Given the description of an element on the screen output the (x, y) to click on. 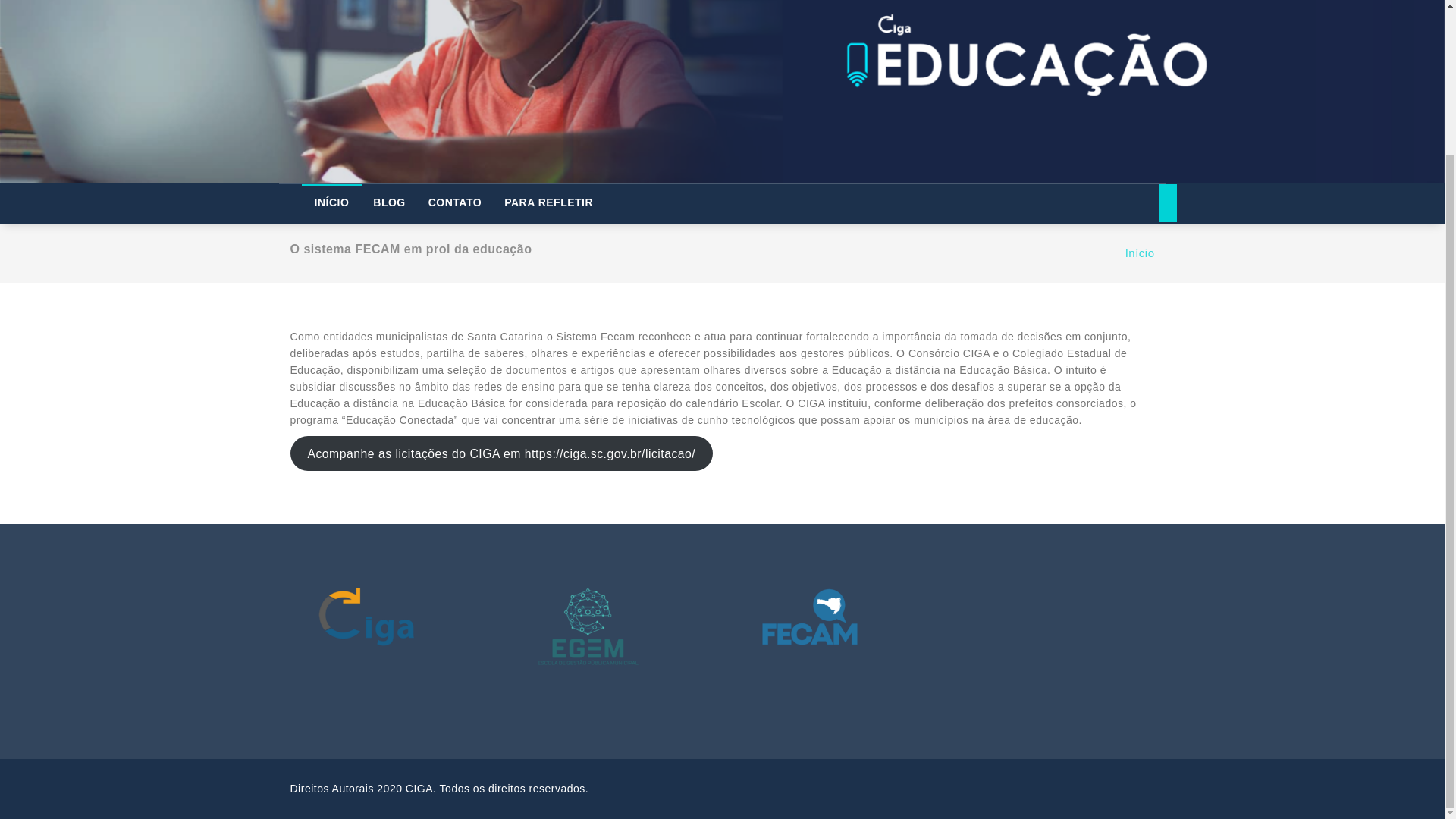
BLOG (388, 202)
CONTATO (454, 202)
PARA REFLETIR (548, 202)
